Given the description of an element on the screen output the (x, y) to click on. 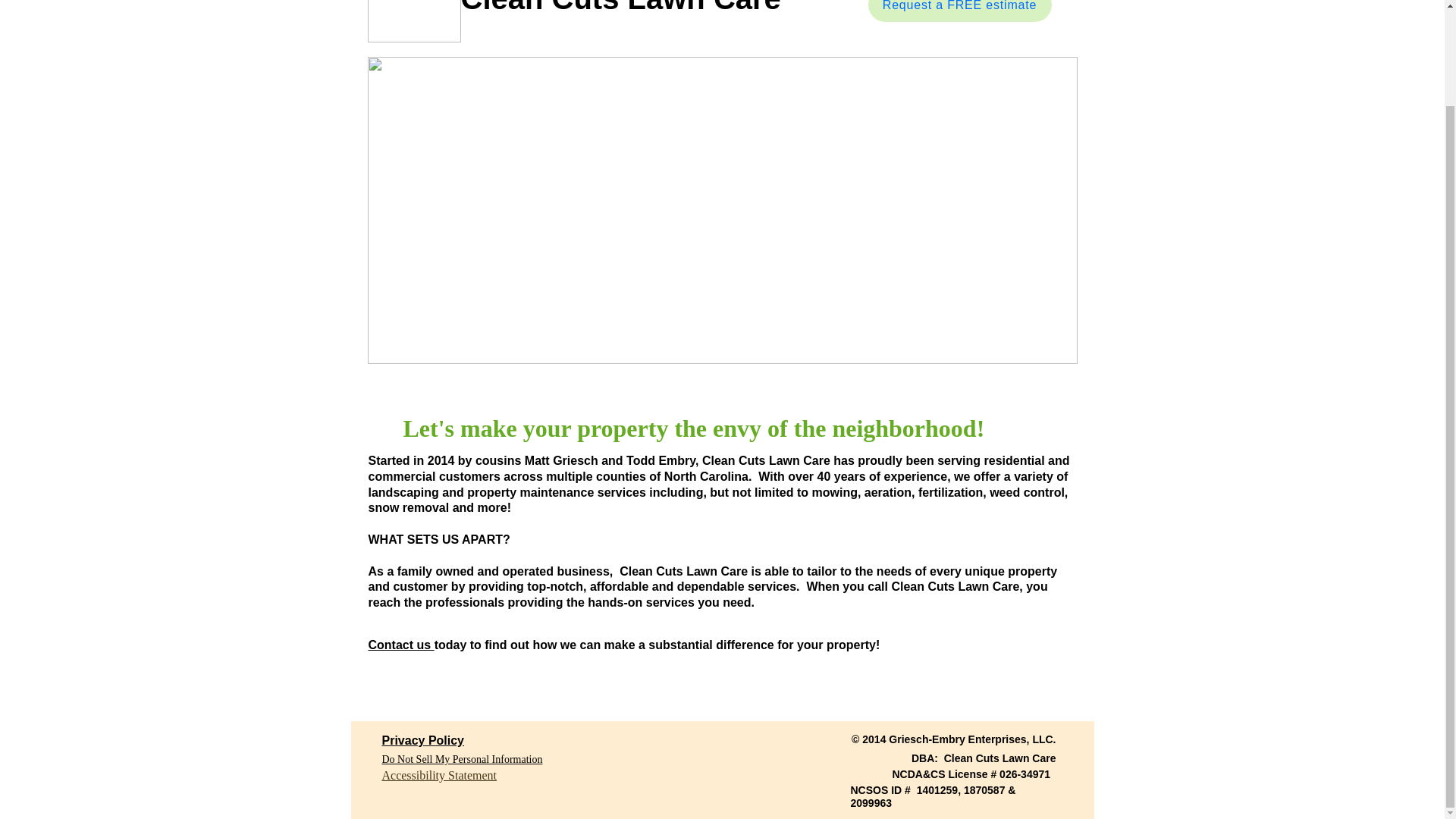
Request a FREE estimate (959, 11)
Privacy Policy (422, 739)
Do Not Sell My Personal Information (462, 759)
Clean Cuts Lawn Care (620, 7)
Accessibility Statement (439, 775)
Contact us (400, 644)
